Given the description of an element on the screen output the (x, y) to click on. 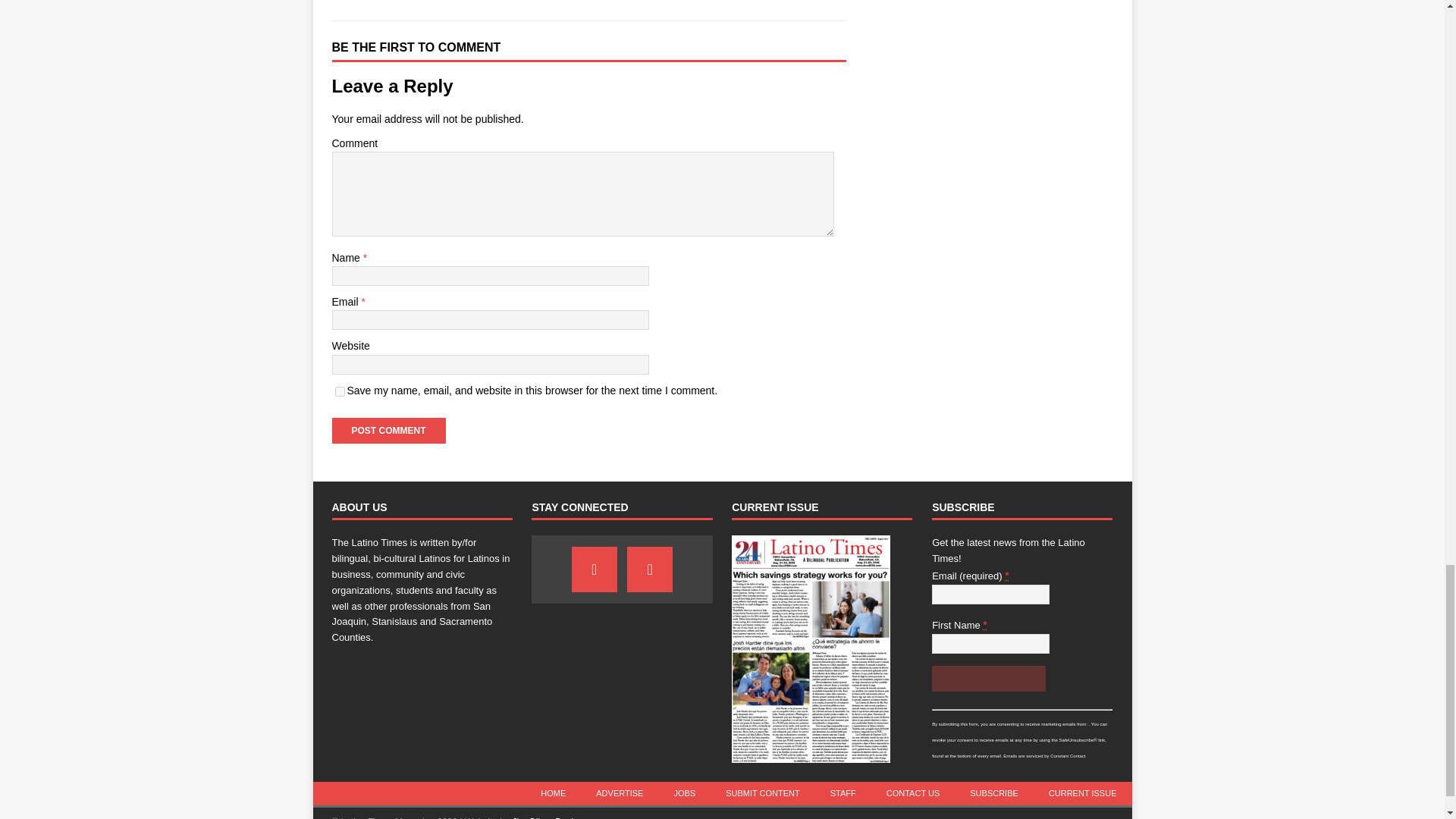
Sign up! (988, 678)
Post Comment (388, 430)
yes (339, 391)
